Given the description of an element on the screen output the (x, y) to click on. 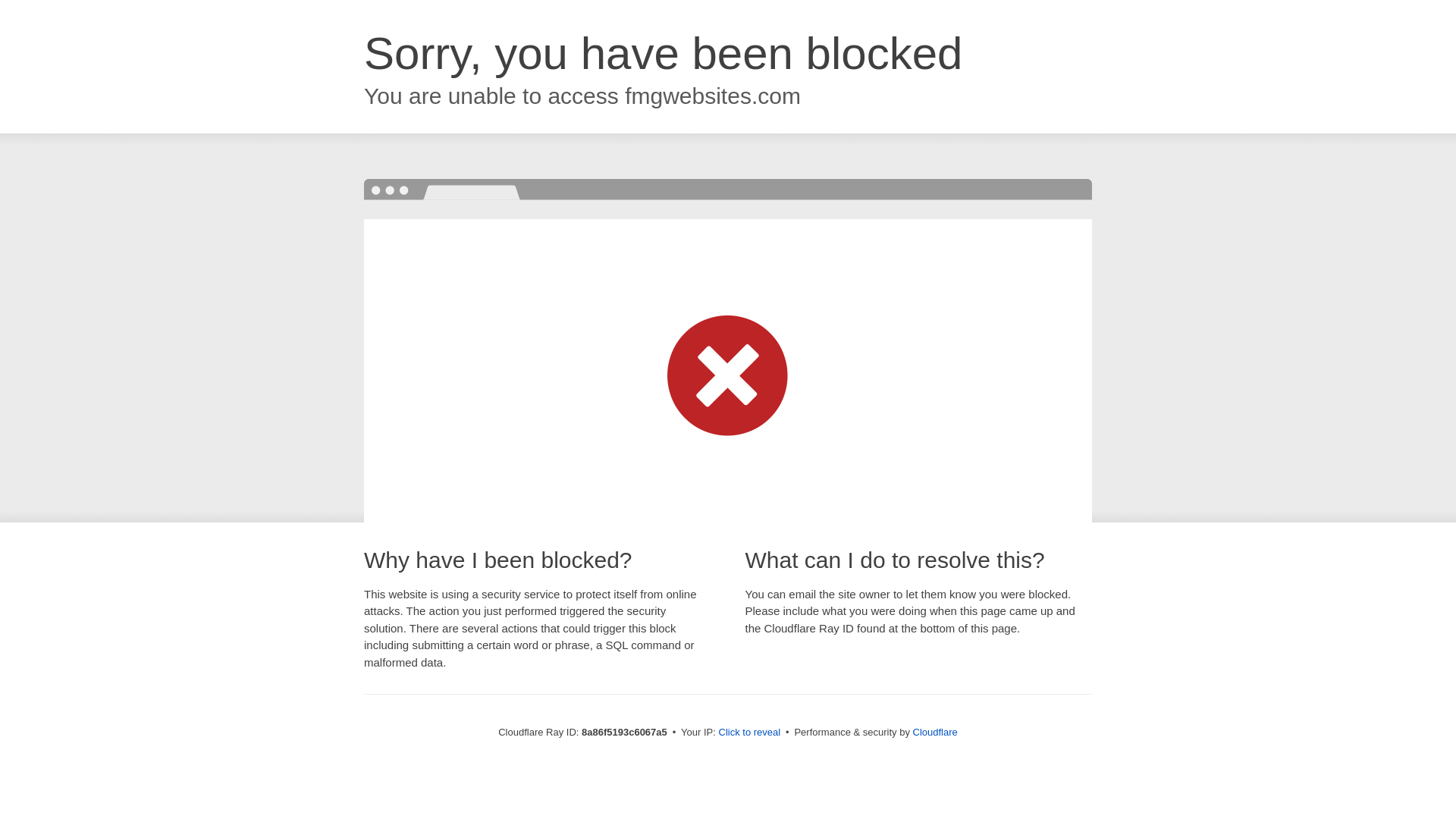
Click to reveal (749, 732)
Cloudflare (935, 731)
